Given the description of an element on the screen output the (x, y) to click on. 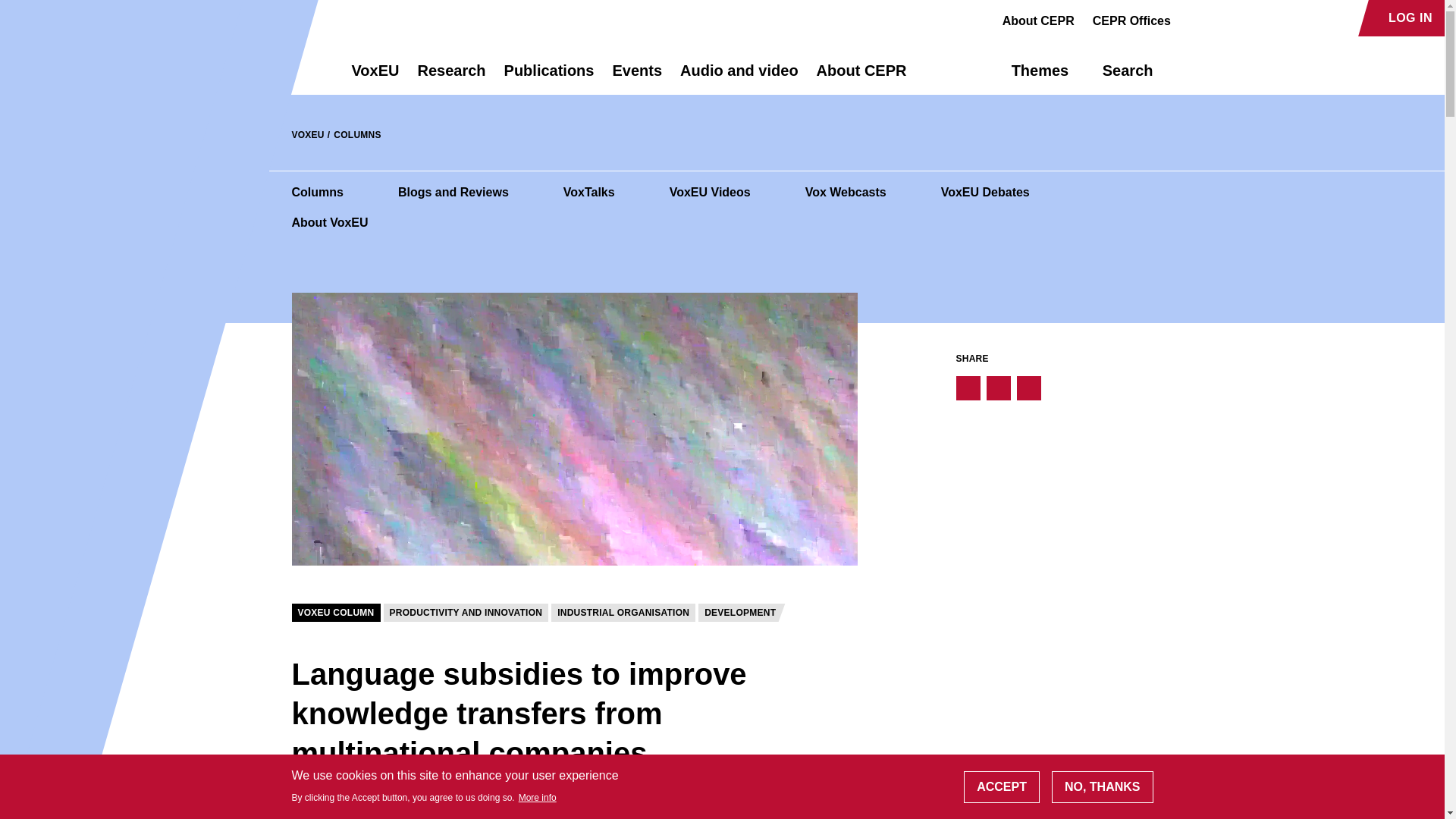
Research (450, 77)
Go to Linkedin profile (1243, 18)
VoxEU (375, 77)
Go to Facebook profile (1190, 17)
Return to the homepage (293, 69)
Audio and video (738, 77)
Go to Audioboom profile (1217, 17)
Publications (548, 77)
Events (636, 77)
